Given the description of an element on the screen output the (x, y) to click on. 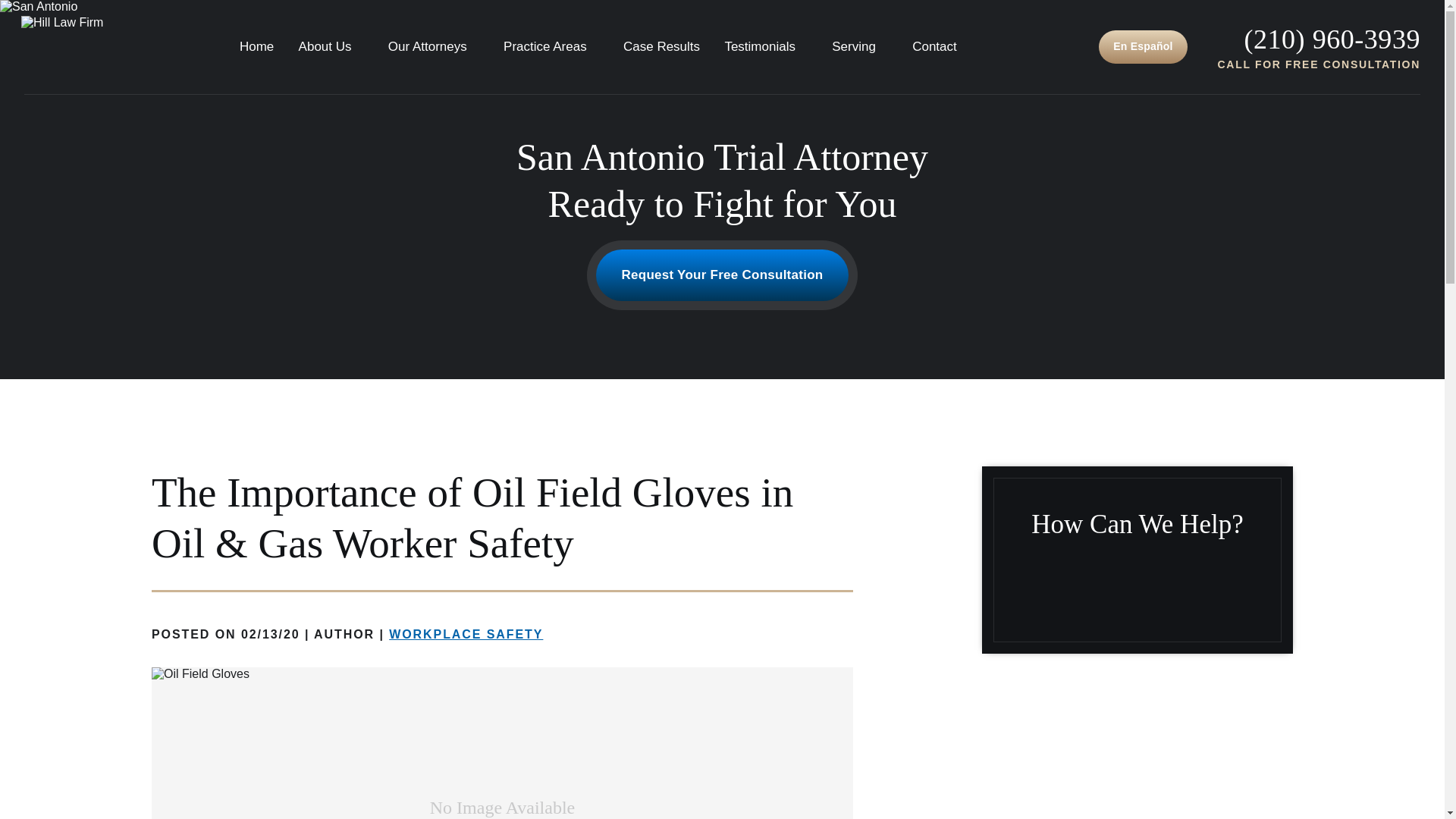
P (1332, 38)
Practice Areas (550, 46)
Posts by Author (344, 634)
Our Attorneys (433, 46)
Testimonials (765, 46)
Hill Law Firm (57, 47)
Case Results (661, 46)
About Us (331, 46)
Serving (859, 46)
Home (256, 46)
